Given the description of an element on the screen output the (x, y) to click on. 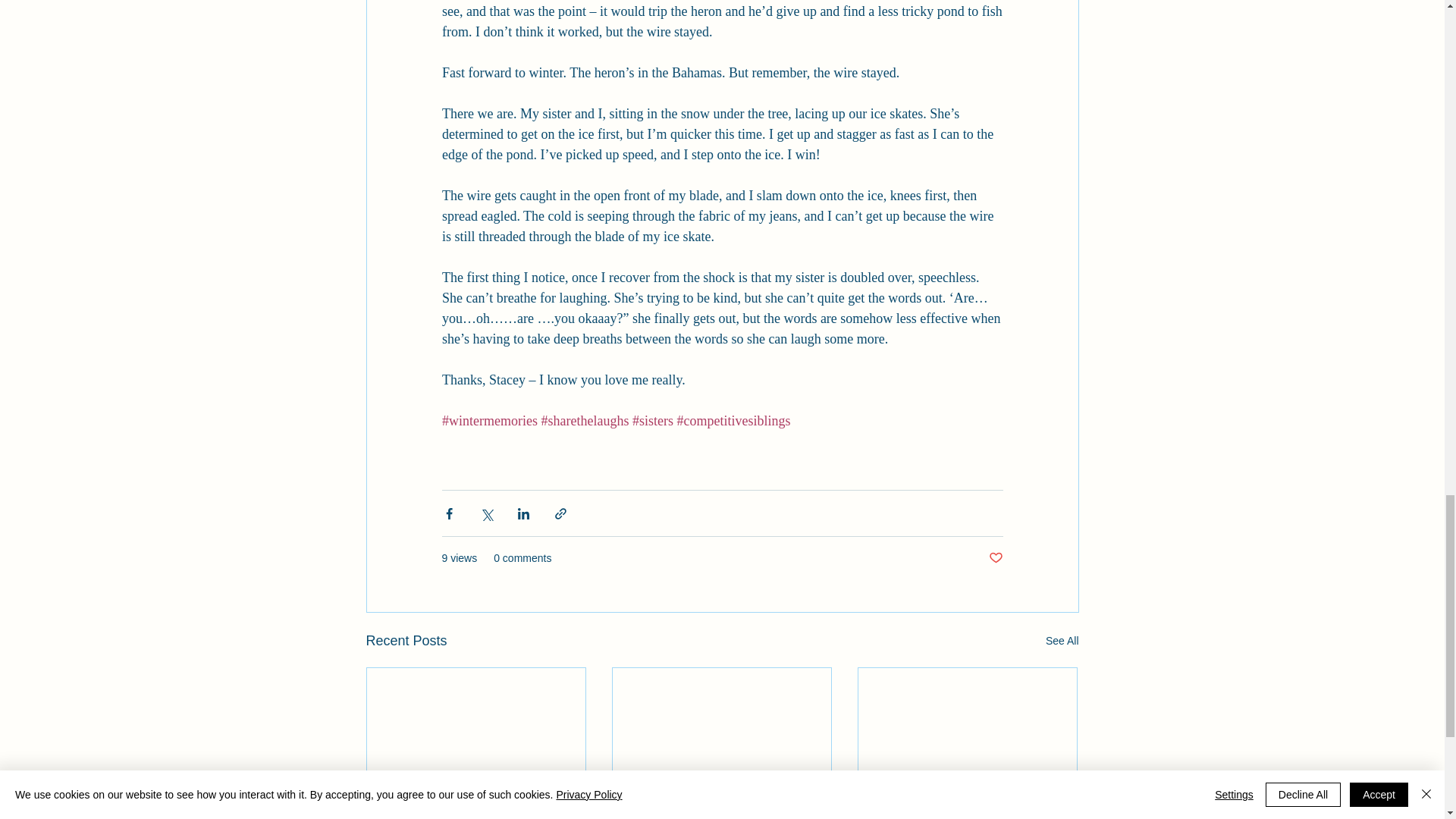
Enough with the Trashy Self-Talk (721, 814)
Let's Talk (967, 814)
See All (1061, 640)
Post not marked as liked (995, 558)
